Given the description of an element on the screen output the (x, y) to click on. 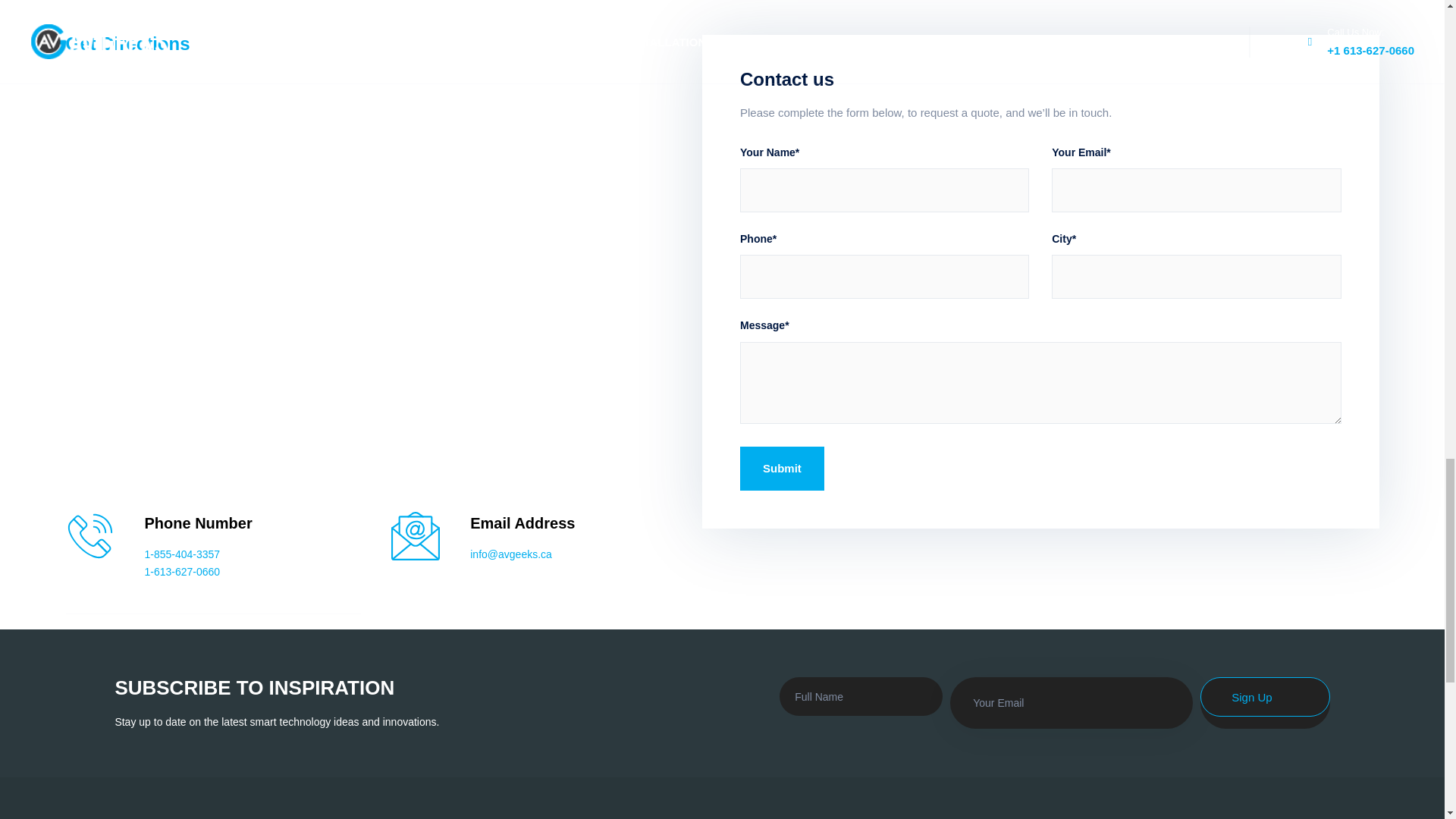
Sign Up (1264, 696)
Submit (781, 468)
1-613-627-0660 (181, 571)
Sign Up (1264, 696)
1-855-404-3357 (181, 553)
